Given the description of an element on the screen output the (x, y) to click on. 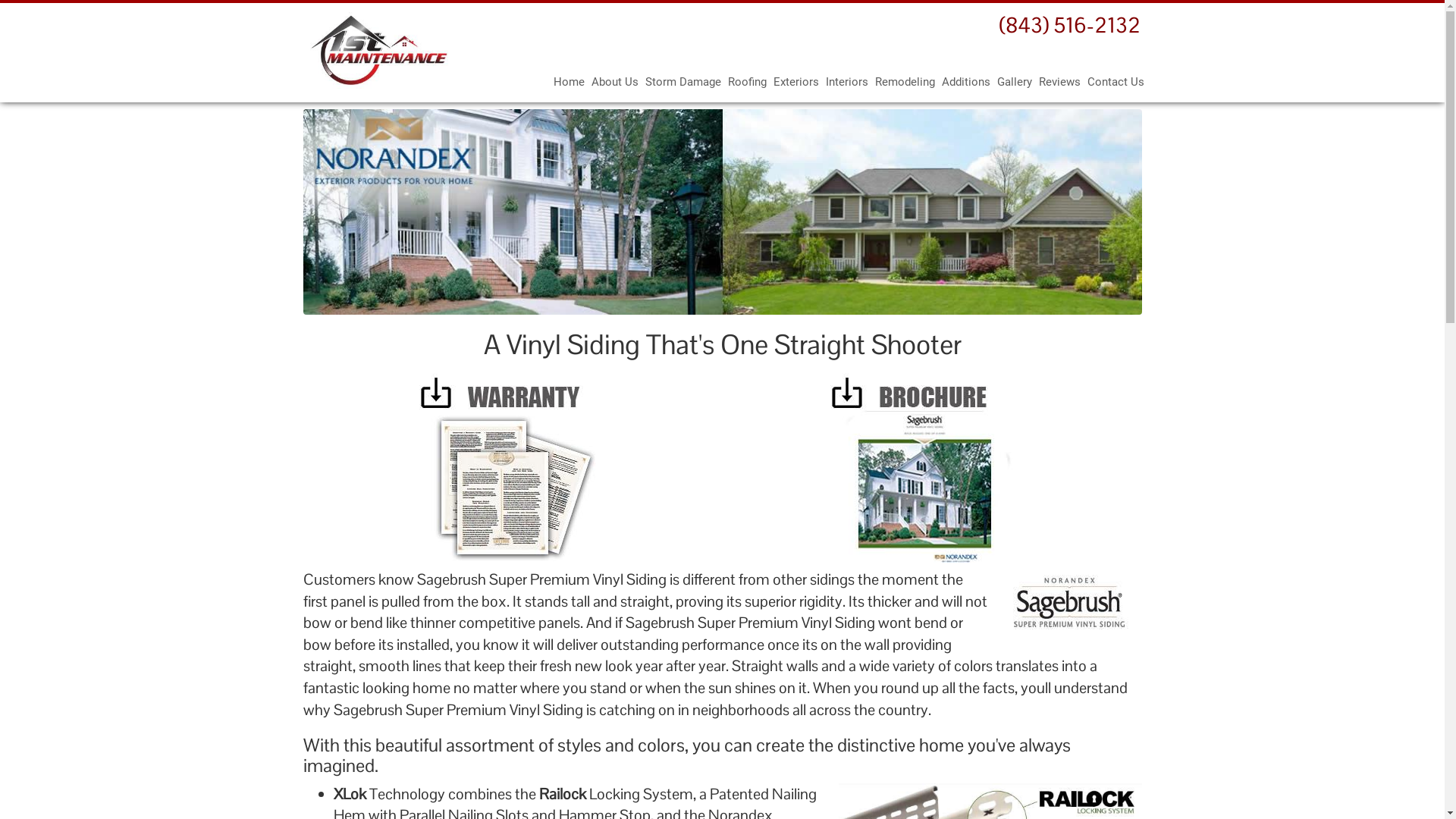
Roofing Element type: text (747, 81)
Gallery Element type: text (1013, 81)
Reviews Element type: text (1059, 81)
Additions Element type: text (965, 81)
Remodeling Element type: text (904, 81)
Home Element type: text (569, 81)
Exteriors Element type: text (795, 81)
About Us Element type: text (614, 81)
Storm Damage Element type: text (682, 81)
Interiors Element type: text (846, 81)
Contact Us Element type: text (1115, 81)
